Given the description of an element on the screen output the (x, y) to click on. 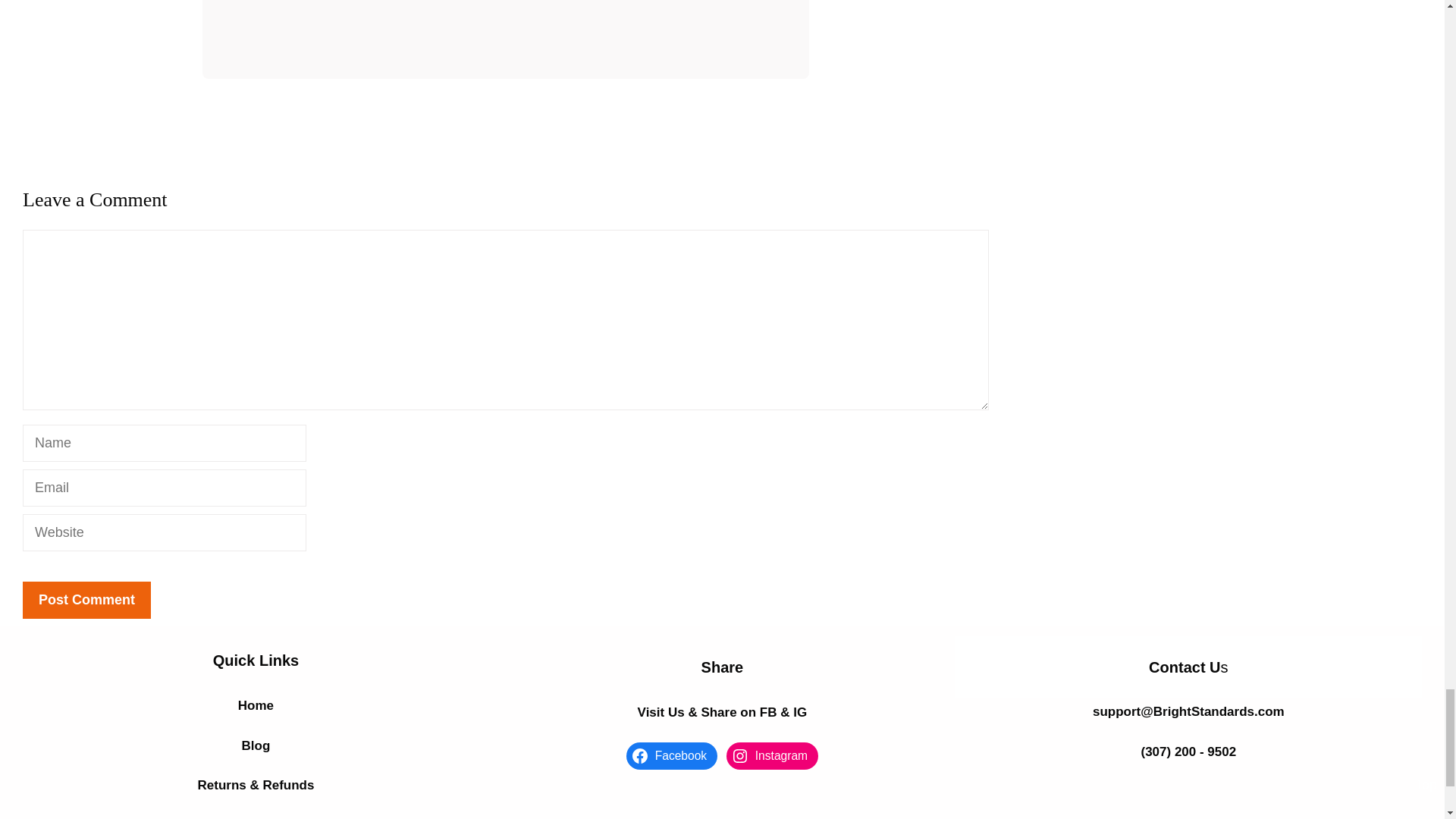
Post Comment (87, 600)
